Given the description of an element on the screen output the (x, y) to click on. 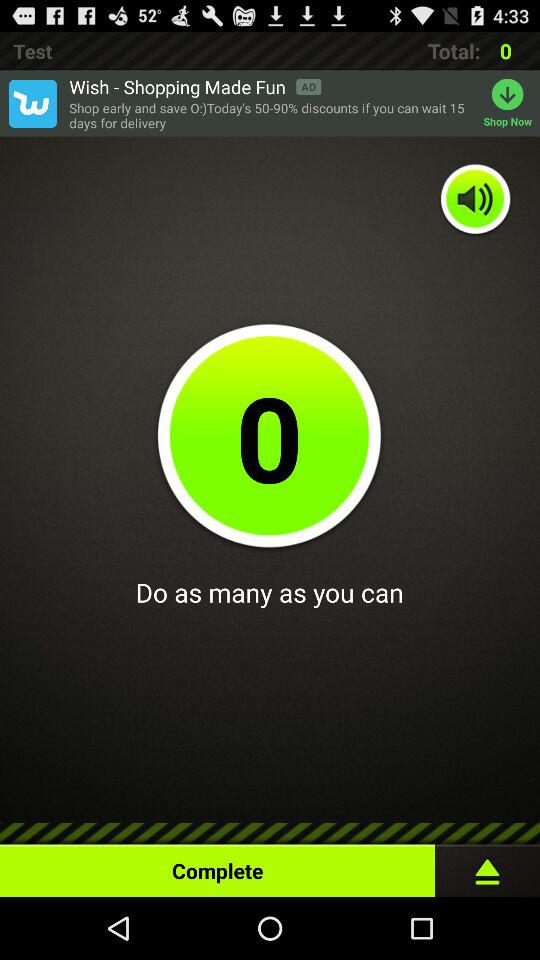
go to top (487, 866)
